Given the description of an element on the screen output the (x, y) to click on. 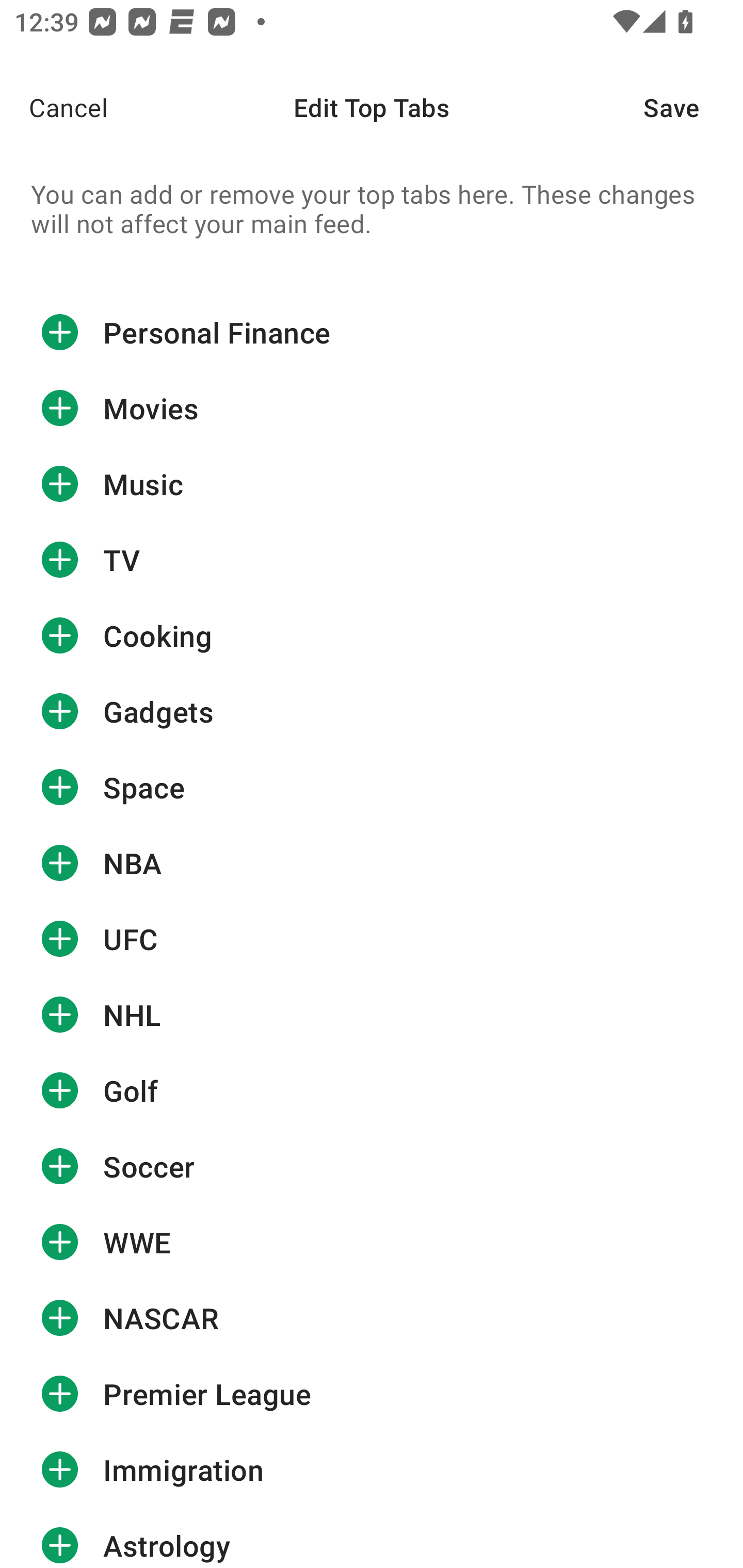
Cancel (53, 106)
Save (693, 106)
Personal Finance (371, 332)
Movies (371, 408)
Music (371, 484)
TV (371, 559)
Cooking (371, 635)
Gadgets (371, 711)
Space (371, 786)
NBA (371, 862)
UFC (371, 938)
NHL (371, 1014)
Golf (371, 1090)
Soccer (371, 1166)
WWE (371, 1241)
NASCAR (371, 1317)
Premier League (371, 1393)
Immigration (371, 1469)
Astrology (371, 1538)
